Given the description of an element on the screen output the (x, y) to click on. 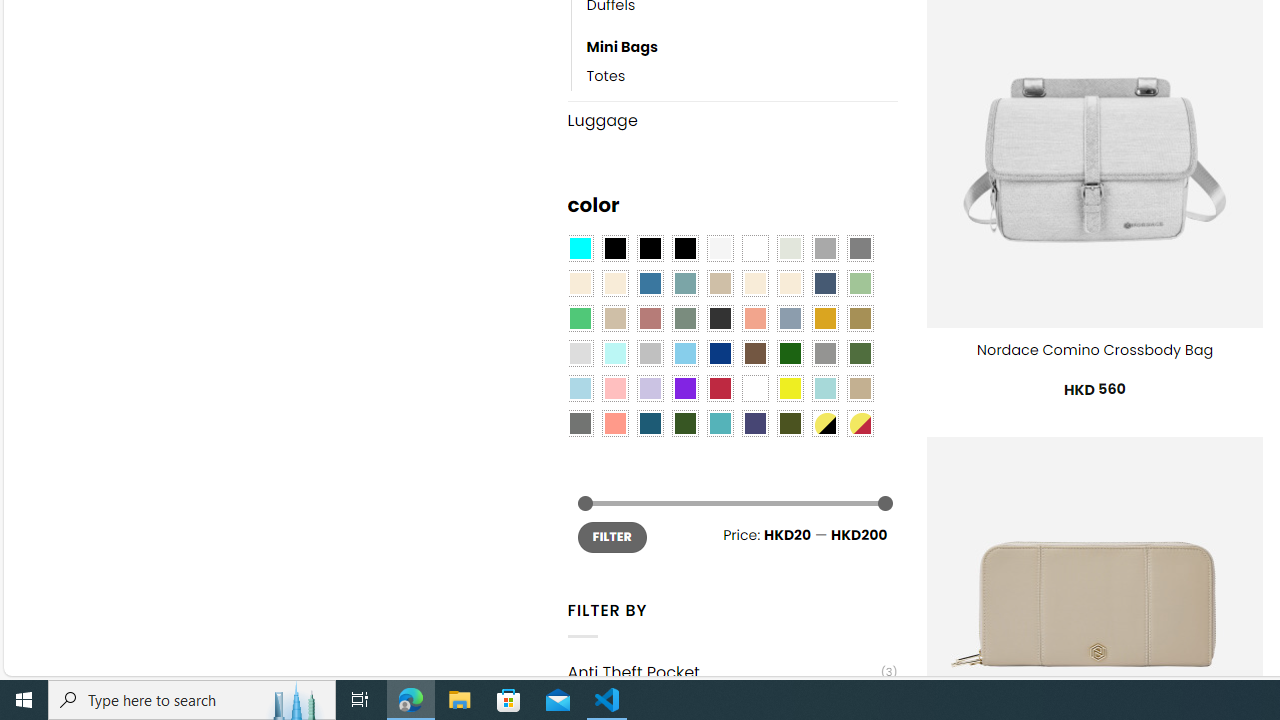
Blue (650, 283)
Purple Navy (755, 424)
All Black (614, 249)
Sky Blue (684, 354)
Gold (824, 318)
Brown (755, 354)
Mint (614, 354)
Brownie (719, 283)
Aqua (824, 388)
Blue Sage (684, 283)
Black (650, 249)
Dull Nickle (579, 424)
Light Purple (650, 388)
Cream (789, 283)
Black-Brown (684, 249)
